Given the description of an element on the screen output the (x, y) to click on. 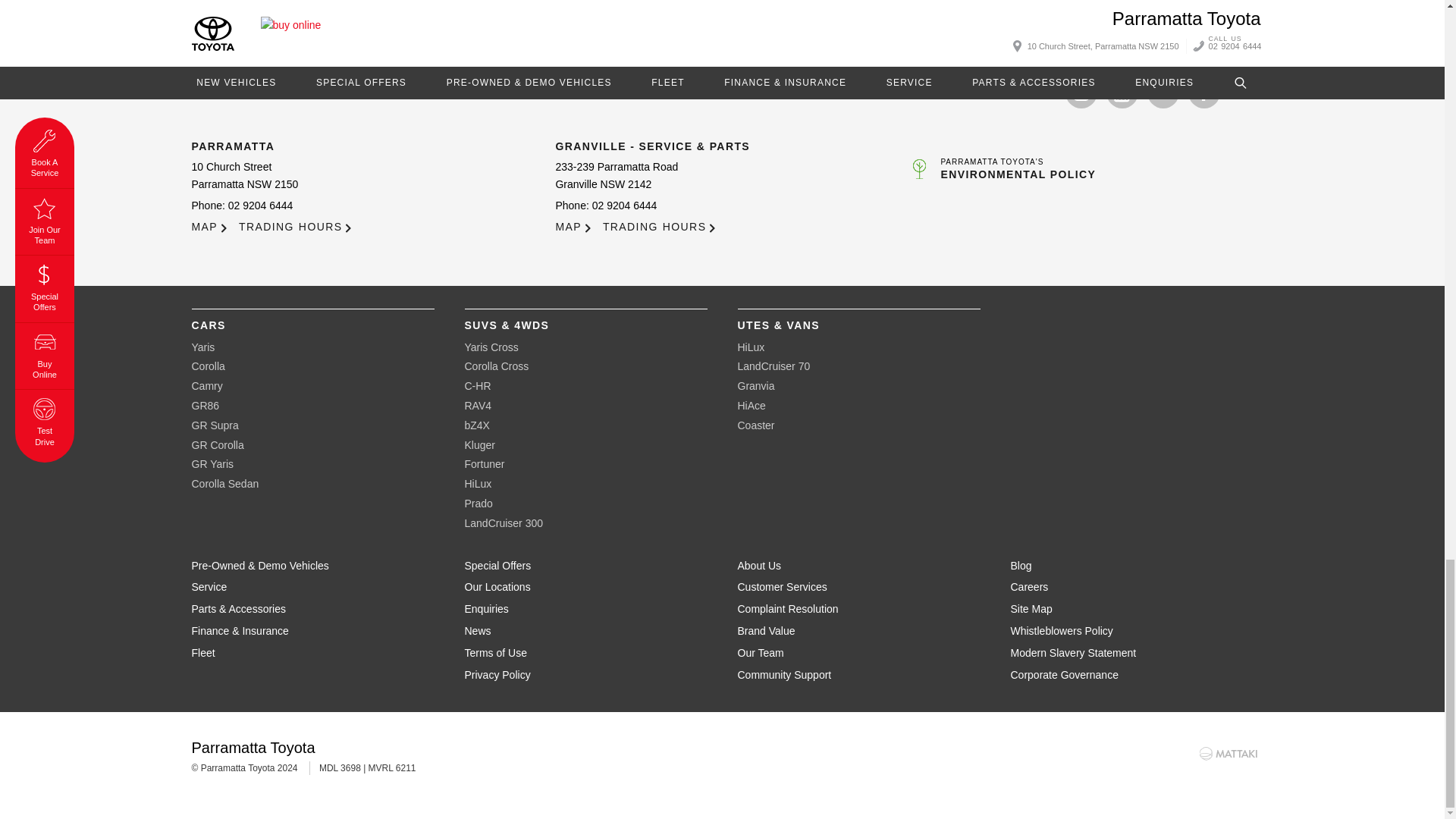
Become a Friend on Facebook (1204, 92)
Visit our YouTube Channel (1121, 92)
Follow Us on LinkedIn (1162, 92)
Follow Us on Instagram (1080, 92)
